Given the description of an element on the screen output the (x, y) to click on. 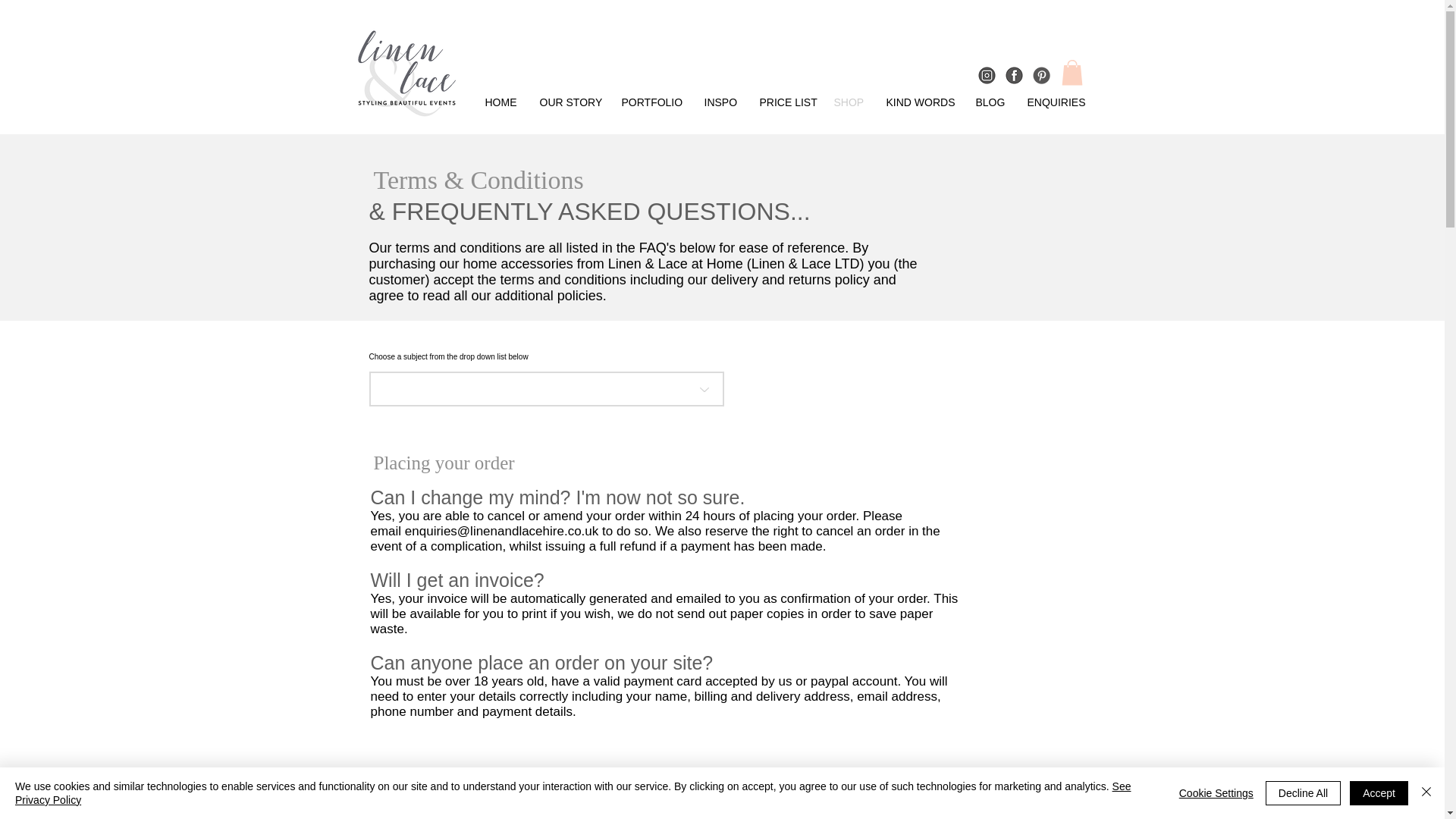
Accept (1378, 793)
OUR STORY (568, 102)
KIND WORDS (919, 102)
HOME (500, 102)
See Privacy Policy (572, 792)
BLOG (989, 102)
ENQUIRIES (1055, 102)
Decline All (1302, 793)
PORTFOLIO (651, 102)
SHOP (848, 102)
